Given the description of an element on the screen output the (x, y) to click on. 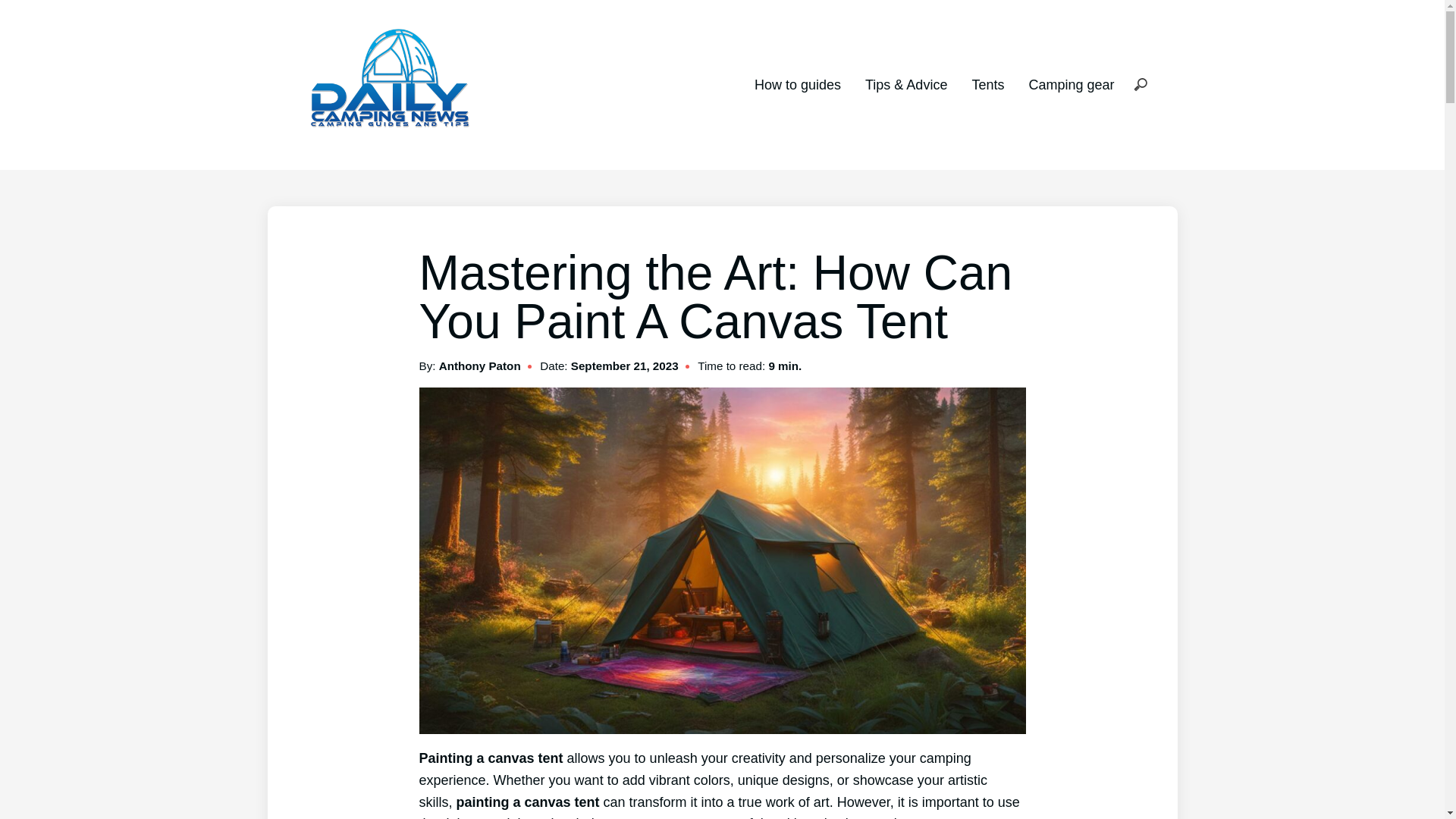
Camping gear (1070, 84)
How to guides (797, 84)
Tents (987, 84)
Search for: (1139, 84)
